Given the description of an element on the screen output the (x, y) to click on. 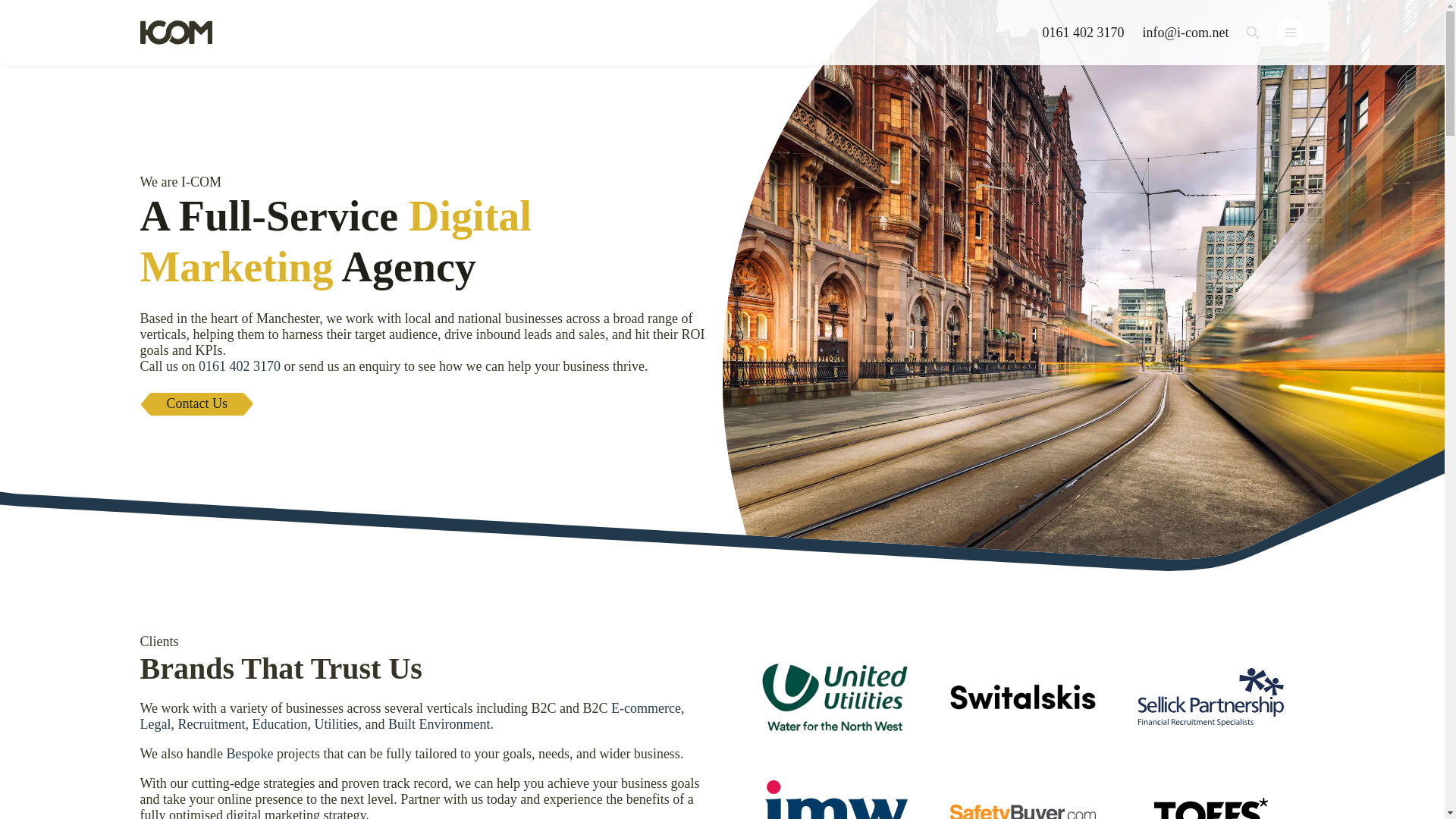
Legal (154, 724)
Contact Us (196, 404)
Education (279, 724)
Utilities (336, 724)
Recruitment (210, 724)
0161 402 3170 (1083, 32)
0161 402 3170 (239, 365)
Built Environment (439, 724)
E-commerce (646, 708)
Bespoke (250, 753)
